Given the description of an element on the screen output the (x, y) to click on. 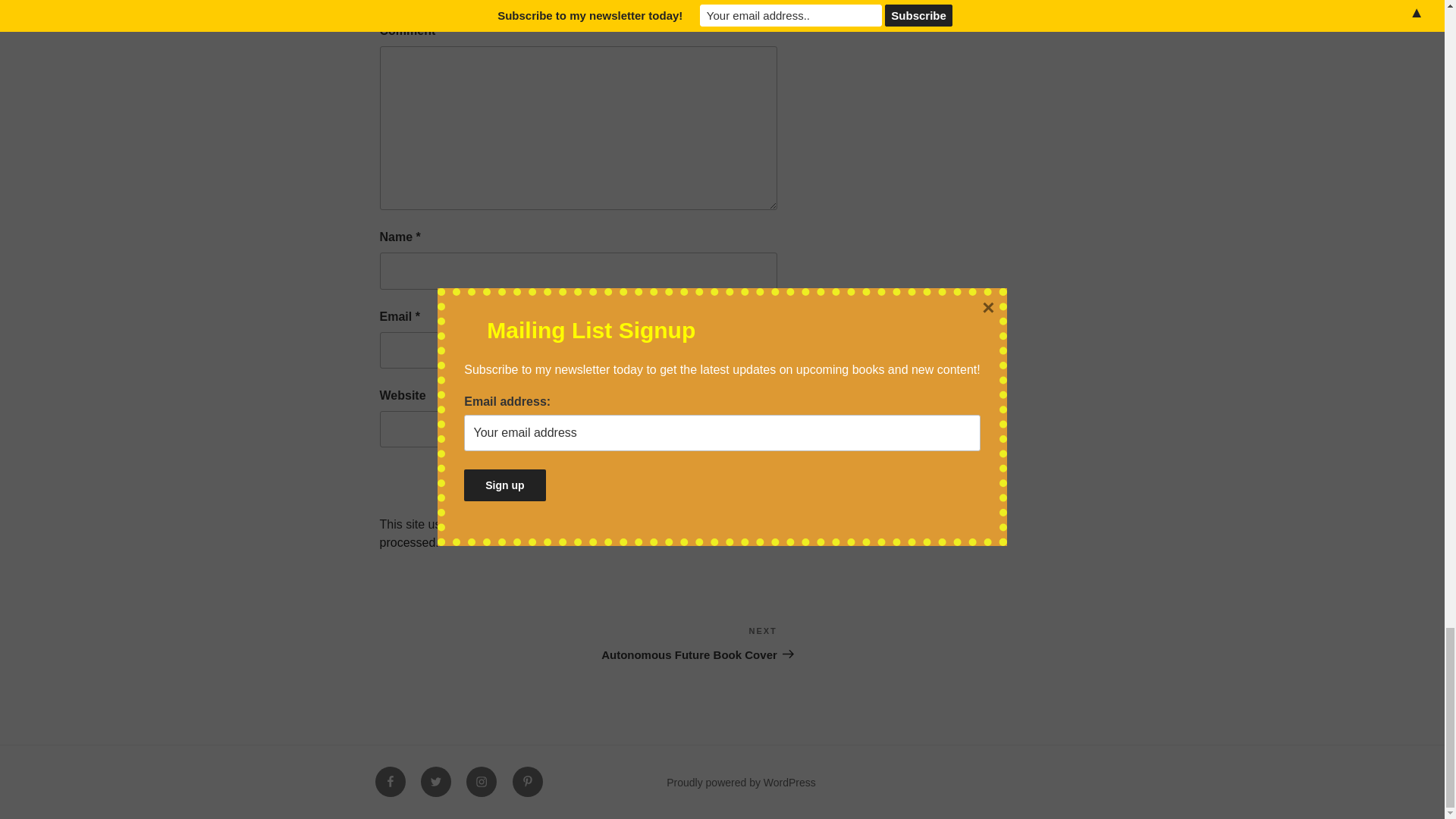
Post Comment (718, 481)
Post Comment (677, 642)
Learn how your comment data is processed (718, 481)
